Given the description of an element on the screen output the (x, y) to click on. 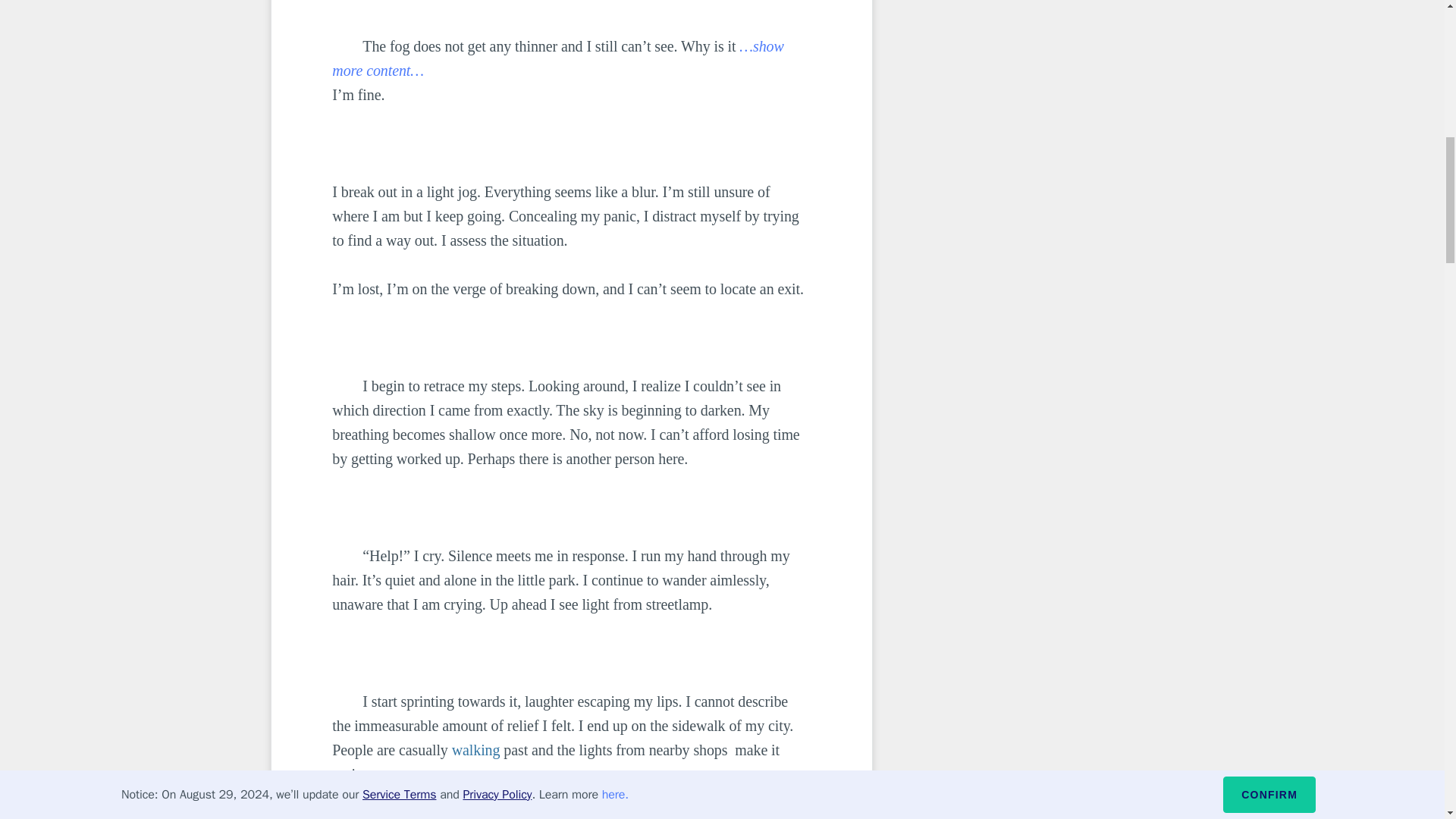
walking (475, 750)
